Given the description of an element on the screen output the (x, y) to click on. 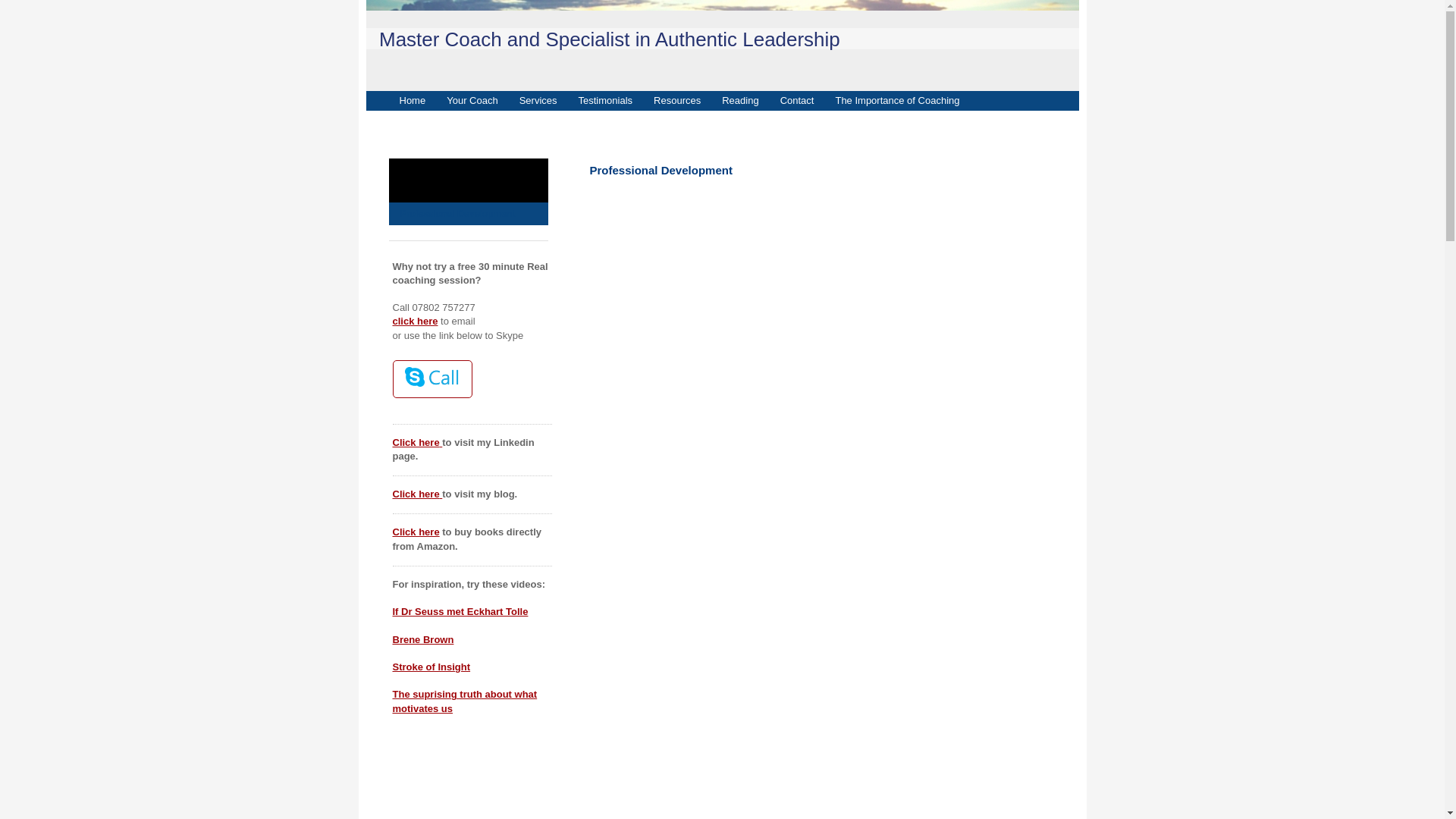
Brene Brown (423, 639)
If Dr Seuss met Eckhart Tolle (460, 611)
Your Coach (471, 100)
Reading (739, 100)
The Importance of Coaching (896, 100)
Click here (416, 441)
Home (411, 100)
Click here (416, 531)
click here (415, 320)
Professional Development (467, 213)
Highly Recommended (467, 169)
Testimonials (605, 100)
Services (537, 100)
Resources (677, 100)
Contact (797, 100)
